Given the description of an element on the screen output the (x, y) to click on. 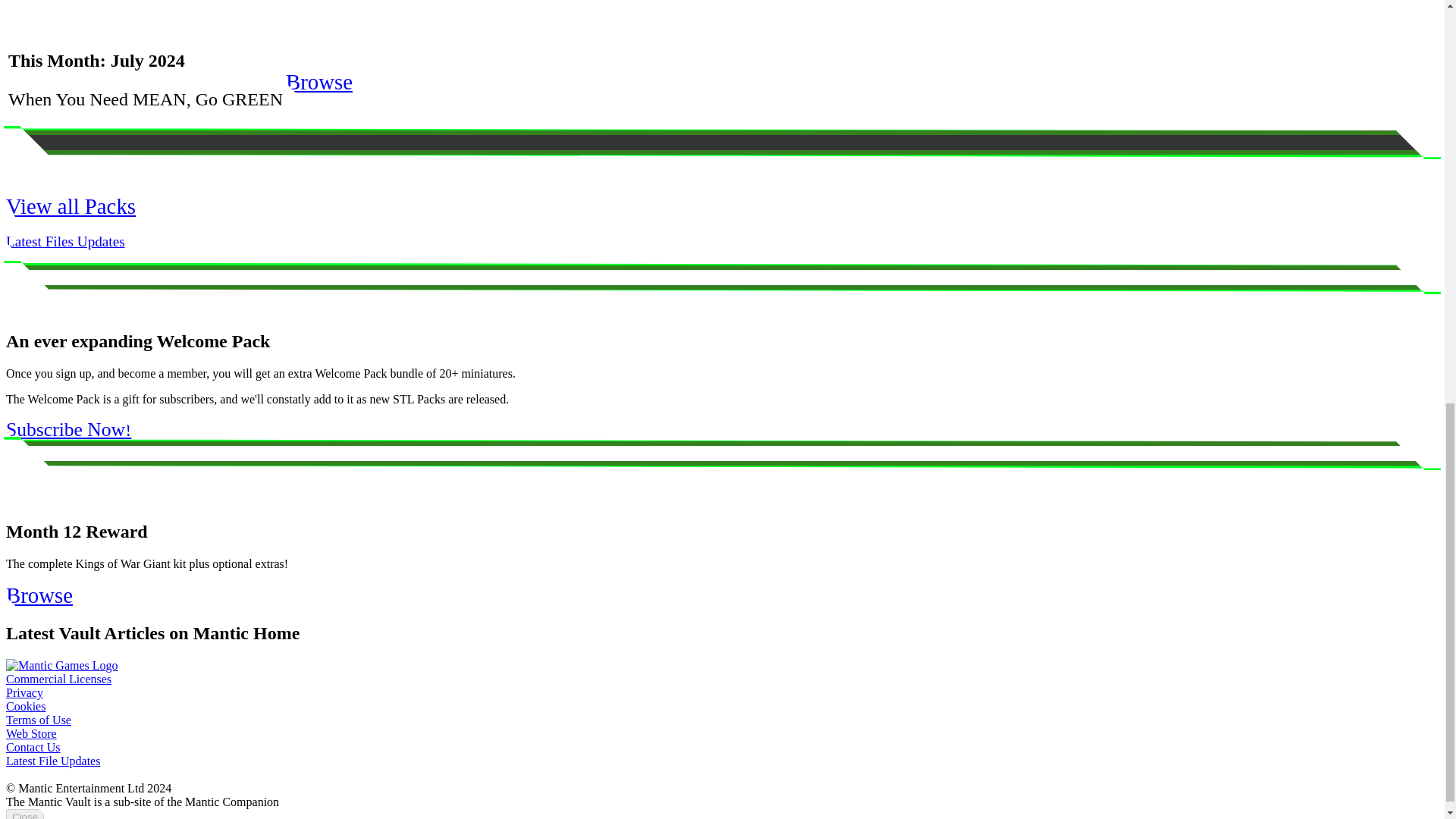
Privacy (24, 692)
Latest Files Updates (65, 241)
Cookies (25, 706)
Subscribe Now! (68, 429)
Contact Us (33, 747)
View all Packs (70, 206)
Browse (318, 81)
Terms of Use (38, 719)
Browse (38, 595)
Latest File Updates (52, 760)
Web Store (30, 733)
Commercial Licenses (58, 678)
